Given the description of an element on the screen output the (x, y) to click on. 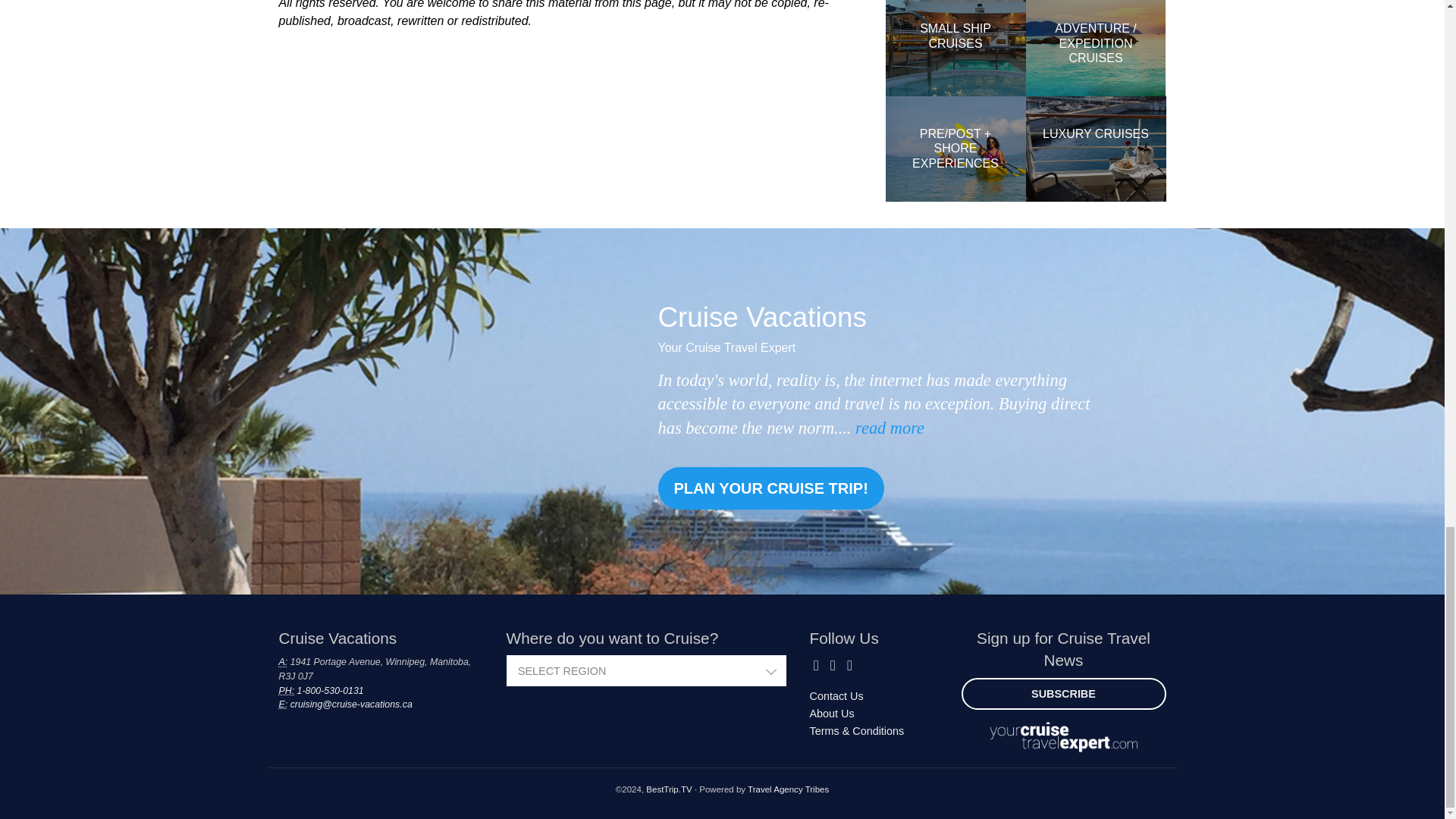
Phone (287, 690)
